Given the description of an element on the screen output the (x, y) to click on. 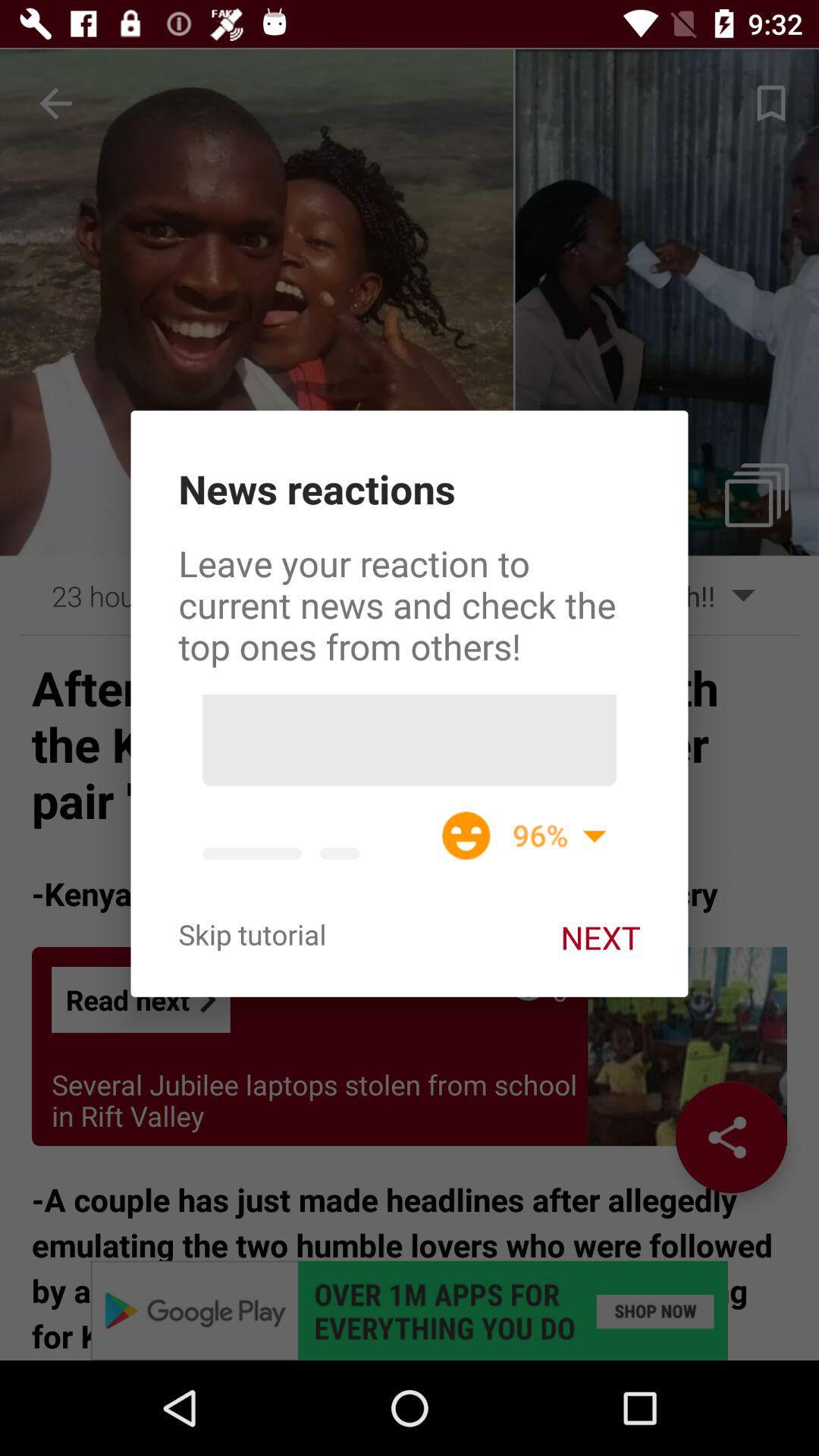
tap the icon to the right of the skip tutorial item (600, 936)
